Given the description of an element on the screen output the (x, y) to click on. 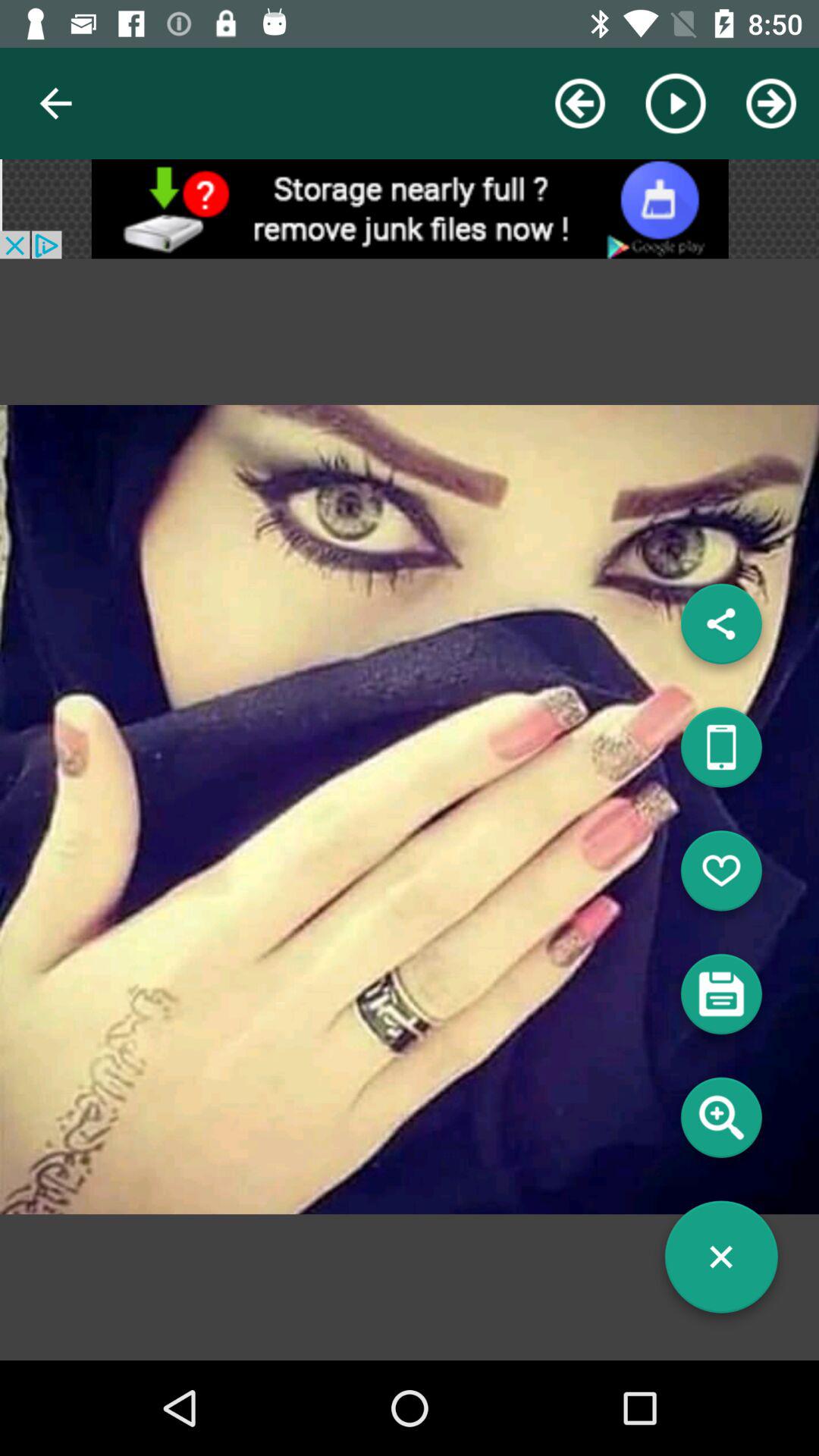
click on phone icon (721, 753)
